Given the description of an element on the screen output the (x, y) to click on. 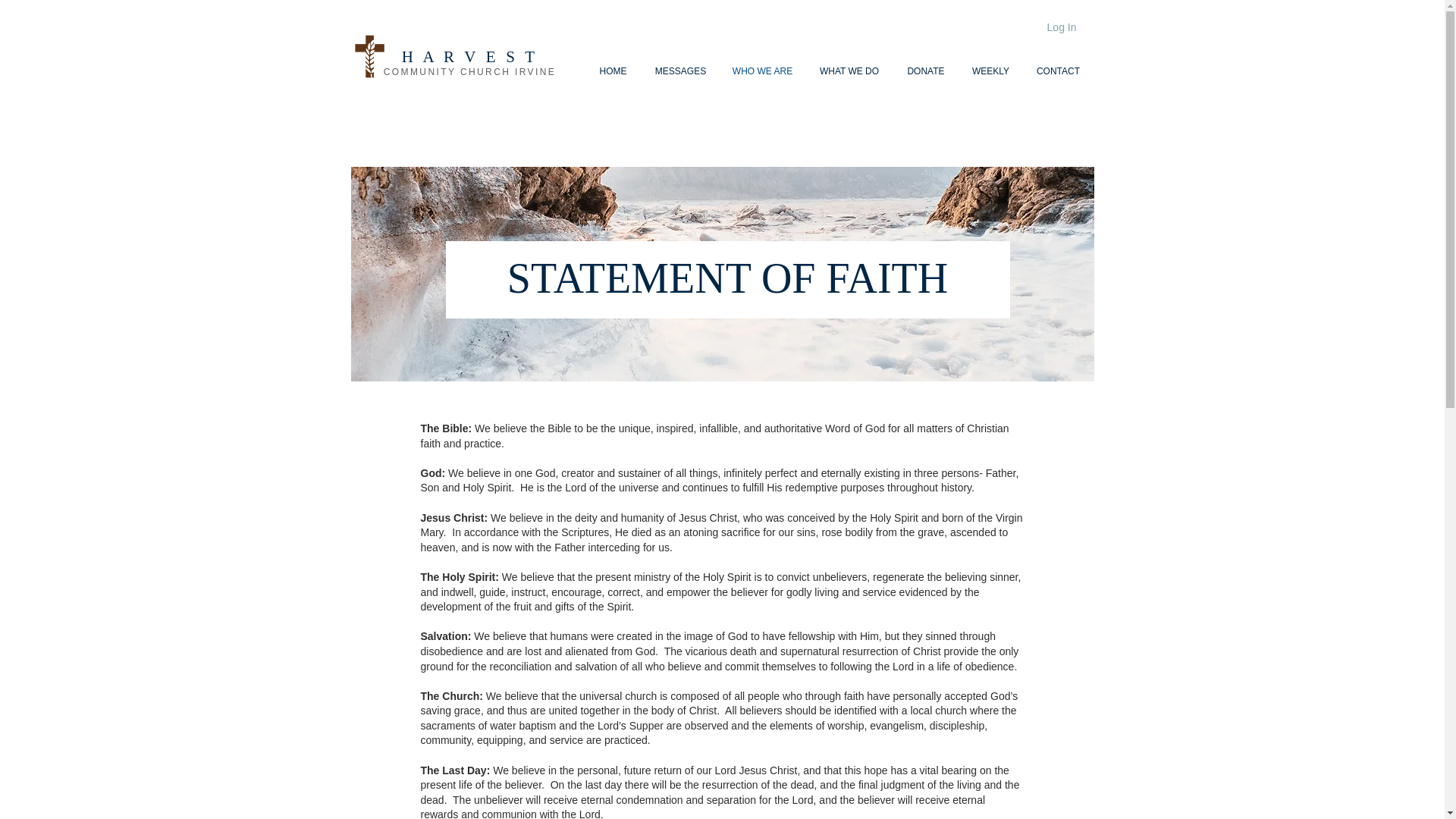
WHO WE ARE (762, 71)
HOME (612, 71)
H A R V E S T (469, 56)
DONATE (926, 71)
WHAT WE DO (848, 71)
CONTACT (1057, 71)
WEEKLY (990, 71)
MESSAGES (680, 71)
Log In (1061, 27)
